Given the description of an element on the screen output the (x, y) to click on. 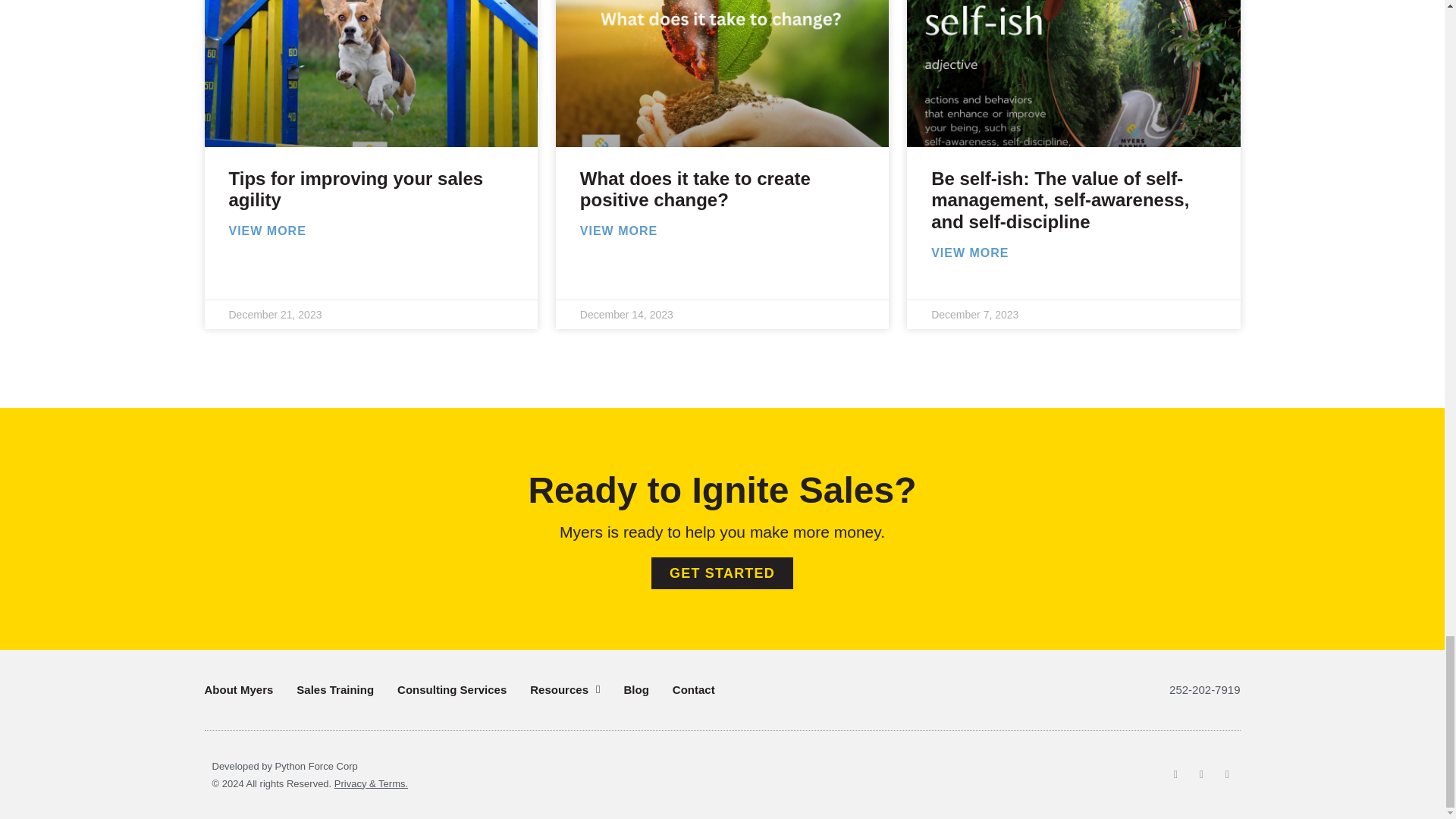
Tips for improving your sales agility (355, 189)
VIEW MORE (266, 230)
What does it take to create positive change? (694, 189)
